Given the description of an element on the screen output the (x, y) to click on. 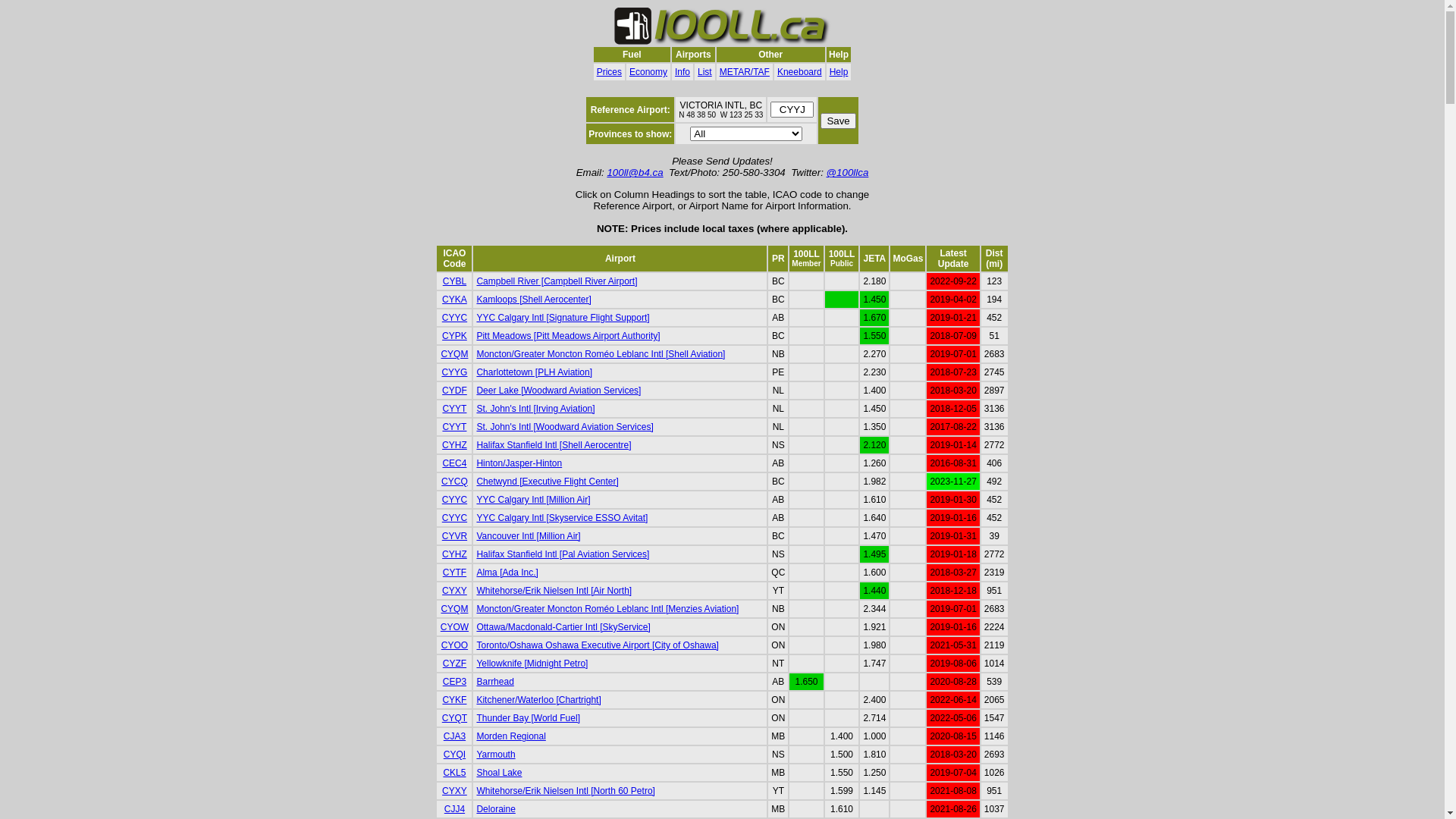
CYYC Element type: text (454, 499)
Kneeboard Element type: text (799, 71)
CYKA Element type: text (454, 299)
Economy Element type: text (648, 71)
Pitt Meadows [Pitt Meadows Airport Authority] Element type: text (567, 335)
Yarmouth Element type: text (495, 754)
YYC Calgary Intl [Million Air] Element type: text (532, 499)
Toronto/Oshawa Oshawa Executive Airport [City of Oshawa] Element type: text (597, 645)
Prices Element type: text (608, 71)
CYCQ Element type: text (454, 481)
CYVR Element type: text (454, 535)
CYHZ Element type: text (454, 444)
St. John's Intl [Woodward Aviation Services] Element type: text (564, 426)
CYTF Element type: text (454, 572)
Kitchener/Waterloo [Chartright] Element type: text (538, 699)
YYC Calgary Intl [Signature Flight Support] Element type: text (562, 317)
Halifax Stanfield Intl [Pal Aviation Services] Element type: text (562, 554)
CJA3 Element type: text (454, 736)
Help Element type: text (838, 71)
Campbell River [Campbell River Airport] Element type: text (556, 281)
Ottawa/Macdonald-Cartier Intl [SkyService] Element type: text (562, 626)
YYC Calgary Intl [Skyservice ESSO Avitat] Element type: text (561, 517)
Save Element type: text (837, 120)
Vancouver Intl [Million Air] Element type: text (528, 535)
CYYT Element type: text (454, 426)
CYXY Element type: text (454, 590)
CYYC Element type: text (454, 517)
CYQI Element type: text (454, 754)
Morden Regional Element type: text (510, 736)
Barrhead Element type: text (494, 681)
AvGas supply stopped permanently 2019-04-02 Element type: hover (842, 299)
Whitehorse/Erik Nielsen Intl [Air North] Element type: text (553, 590)
Hinton/Jasper-Hinton Element type: text (518, 463)
CYYC Element type: text (454, 317)
METAR/TAF Element type: text (744, 71)
100ll@b4.ca Element type: text (634, 172)
St. John's Intl [Irving Aviation] Element type: text (535, 408)
CEP3 Element type: text (454, 681)
CYYT Element type: text (454, 408)
Halifax Stanfield Intl [Shell Aerocentre] Element type: text (553, 444)
CJJ4 Element type: text (454, 808)
CKL5 Element type: text (453, 772)
CYKF Element type: text (454, 699)
CYOO Element type: text (454, 645)
Thunder Bay [World Fuel] Element type: text (528, 717)
CYXY Element type: text (454, 790)
CYDF Element type: text (454, 390)
Info Element type: text (682, 71)
CEC4 Element type: text (454, 463)
CYYG Element type: text (454, 372)
CYQM Element type: text (453, 608)
CYHZ Element type: text (454, 554)
CYZF Element type: text (454, 663)
Shoal Lake Element type: text (498, 772)
Chetwynd [Executive Flight Center] Element type: text (547, 481)
Kamloops [Shell Aerocenter] Element type: text (533, 299)
Charlottetown [PLH Aviation] Element type: text (534, 372)
Alma [Ada Inc.] Element type: text (506, 572)
CYQT Element type: text (454, 717)
Yellowknife [Midnight Petro] Element type: text (531, 663)
CYPK Element type: text (454, 335)
CYOW Element type: text (454, 626)
List Element type: text (704, 71)
Deer Lake [Woodward Aviation Services] Element type: text (558, 390)
CYQM Element type: text (453, 353)
@100llca Element type: text (847, 172)
CYBL Element type: text (454, 281)
Whitehorse/Erik Nielsen Intl [North 60 Petro] Element type: text (565, 790)
Deloraine Element type: text (495, 808)
